Given the description of an element on the screen output the (x, y) to click on. 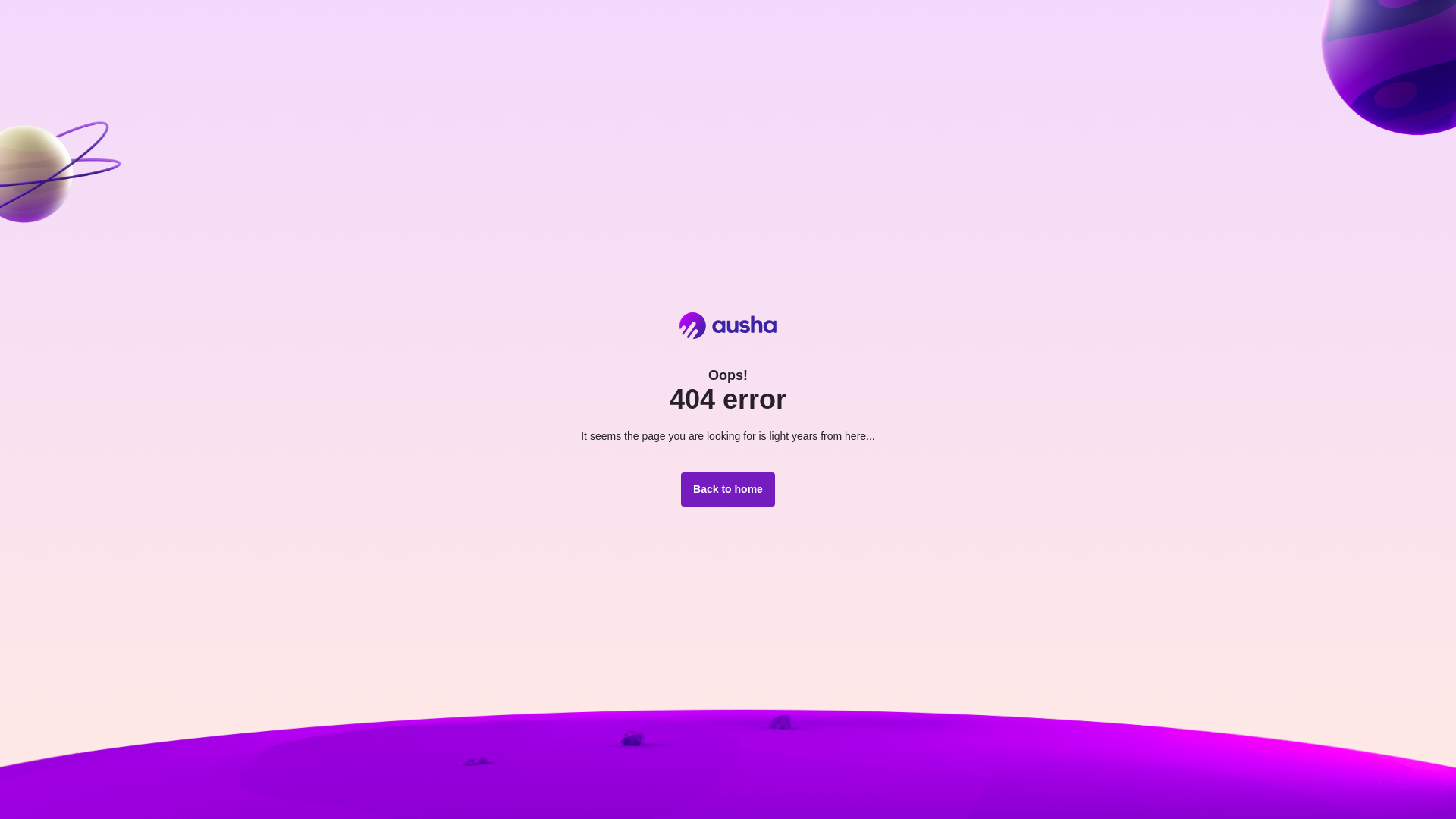
Back to home (727, 489)
